Given the description of an element on the screen output the (x, y) to click on. 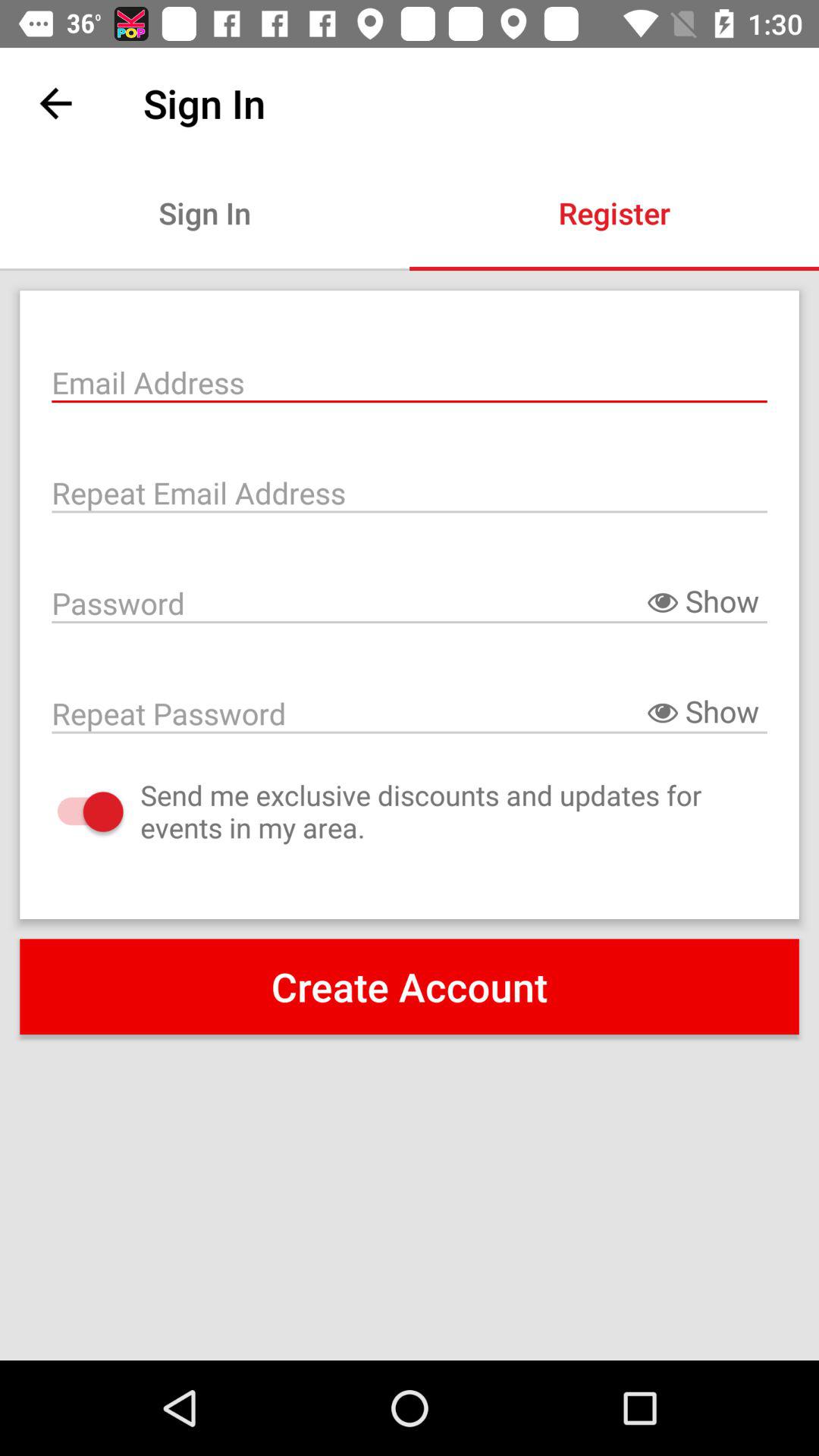
reenter password previous enter (409, 712)
